Given the description of an element on the screen output the (x, y) to click on. 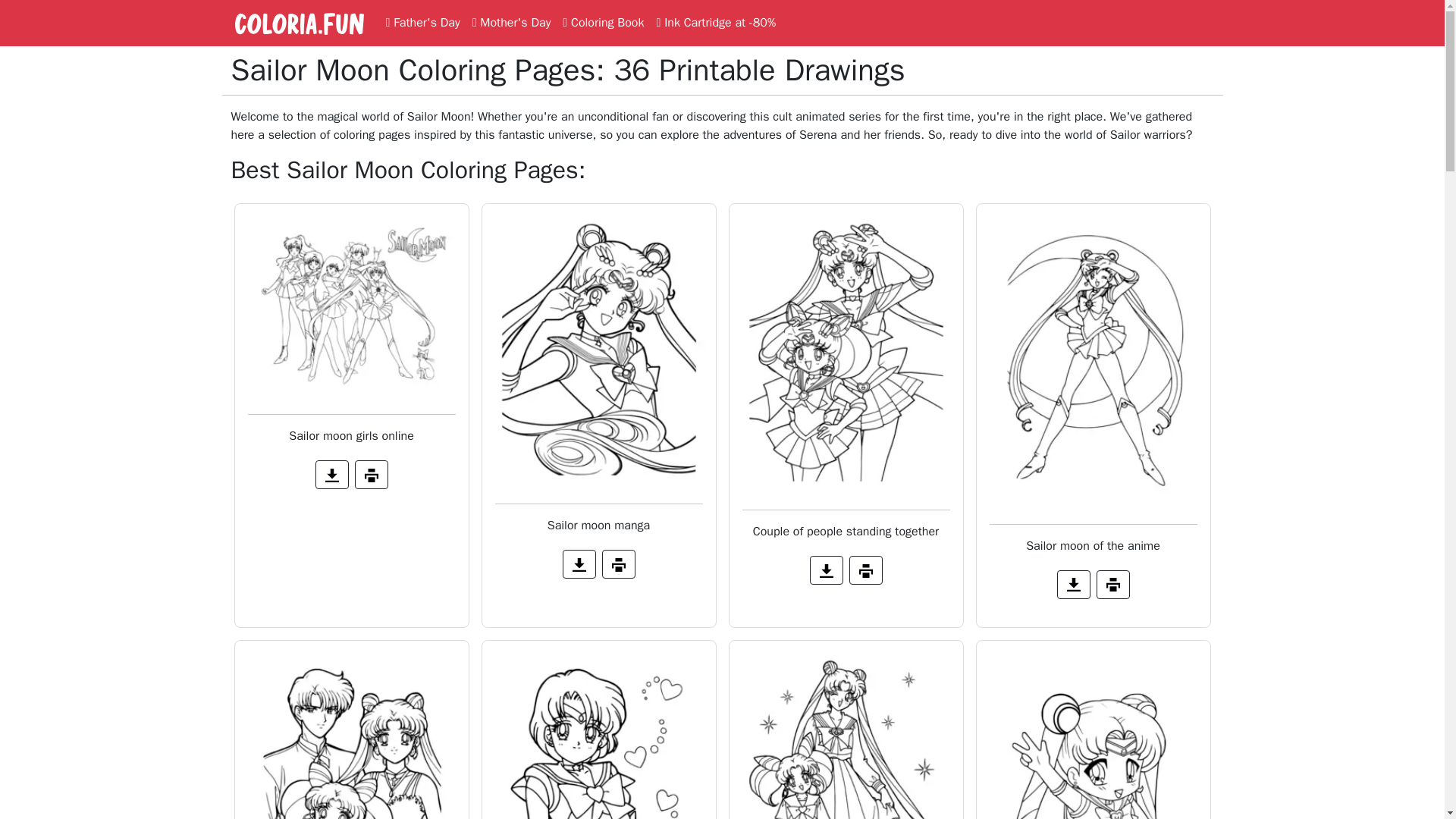
Download the coloring page (1073, 584)
Download the coloring page (332, 474)
Print the coloring page (865, 570)
Download the coloring page (298, 22)
Download the coloring page (826, 570)
Print the coloring page (578, 563)
Print the coloring page (618, 563)
coloria.fun (1112, 584)
Print the coloring page (298, 22)
